Given the description of an element on the screen output the (x, y) to click on. 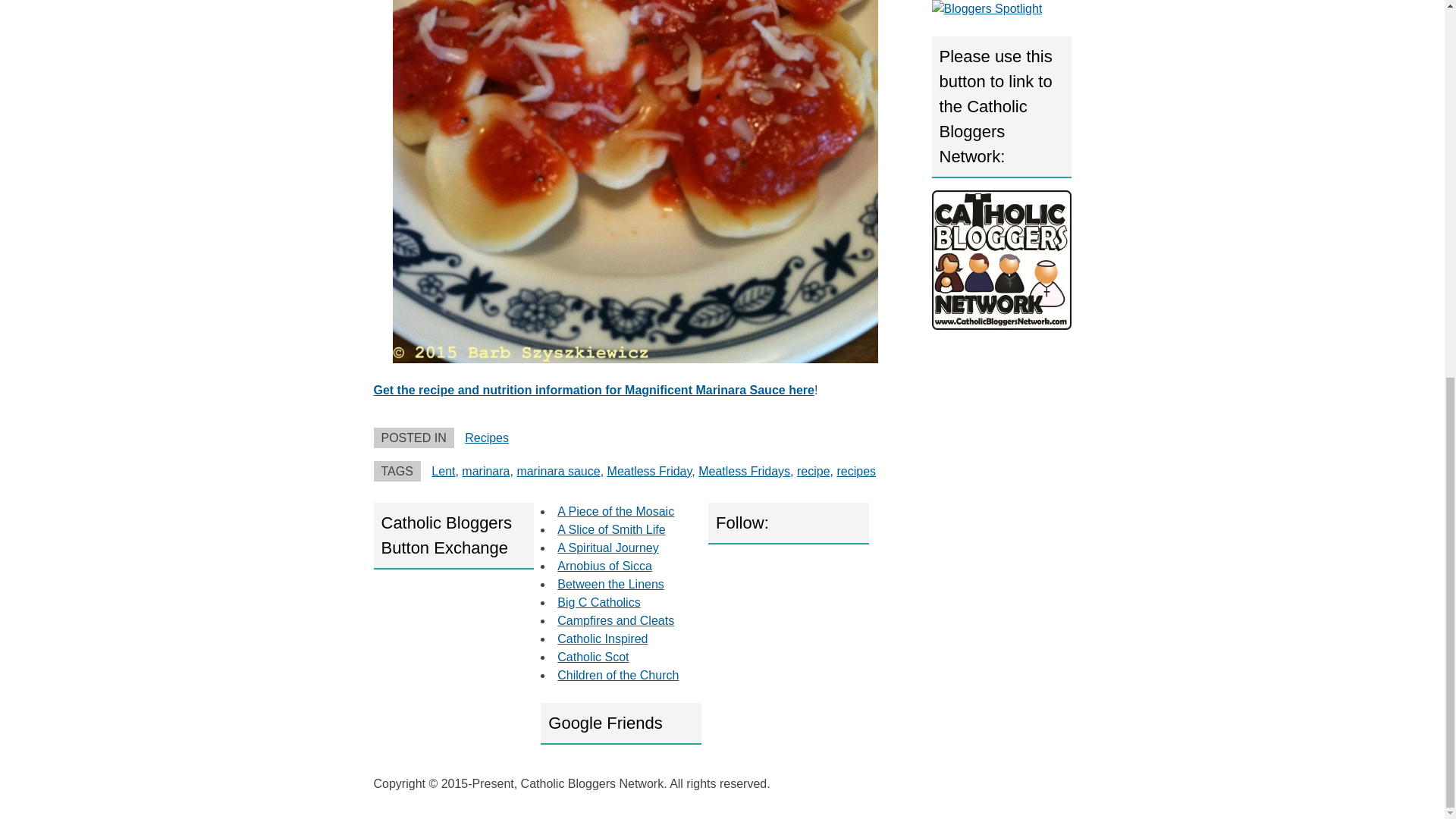
Meatless Fridays (744, 471)
Bloggers Spotlight (986, 9)
Recipes (486, 437)
recipes (855, 471)
Meatless Friday (650, 471)
recipe (812, 471)
marinara sauce (557, 471)
marinara (485, 471)
Lent (442, 471)
